Given the description of an element on the screen output the (x, y) to click on. 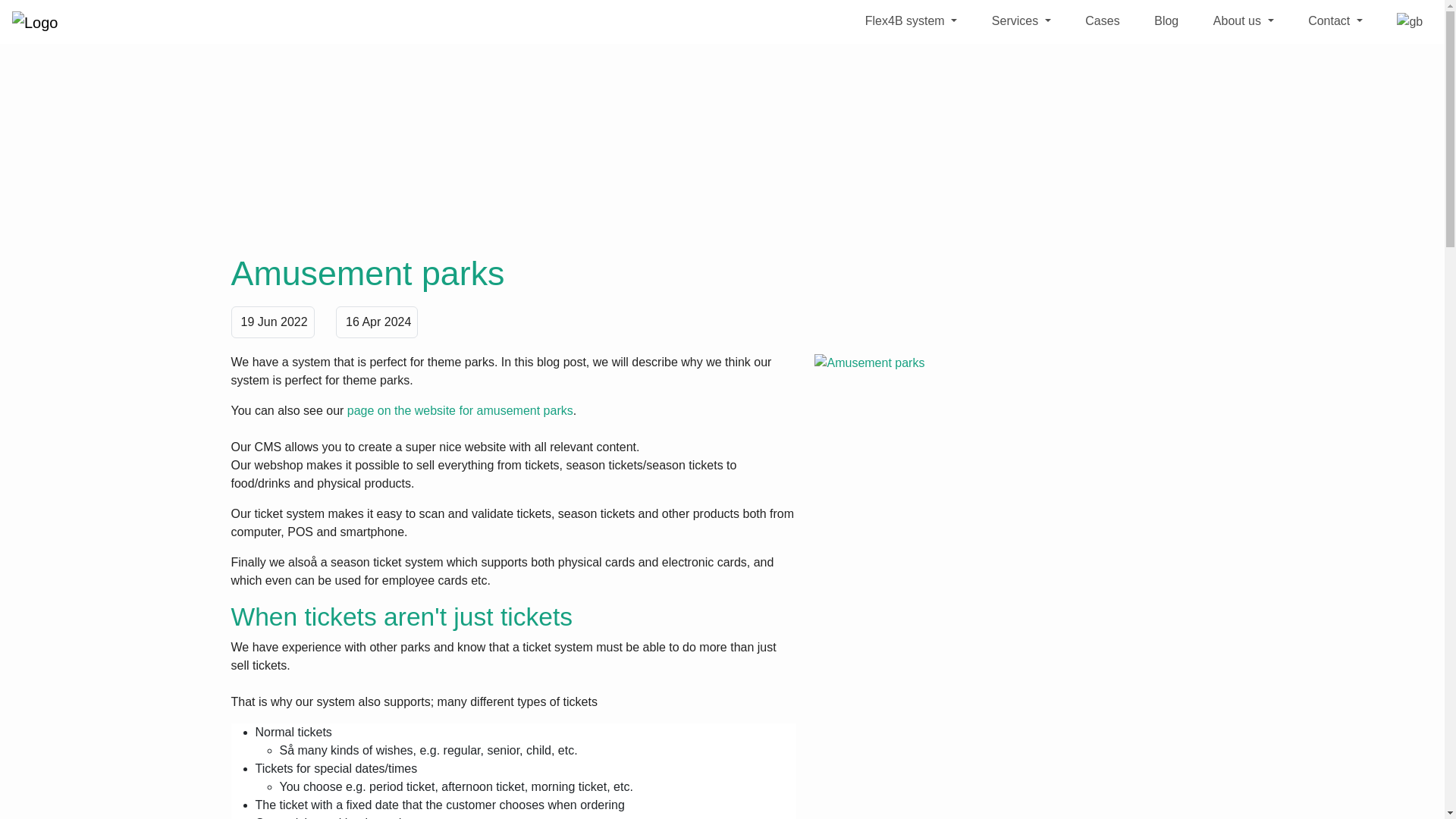
Cases (1102, 20)
Cases (1102, 20)
Blog (1166, 20)
Services (1020, 20)
page on the website for amusement parks (460, 410)
Contact (1334, 20)
About us (1243, 20)
Blog (1166, 20)
Flex4B system (911, 20)
